Given the description of an element on the screen output the (x, y) to click on. 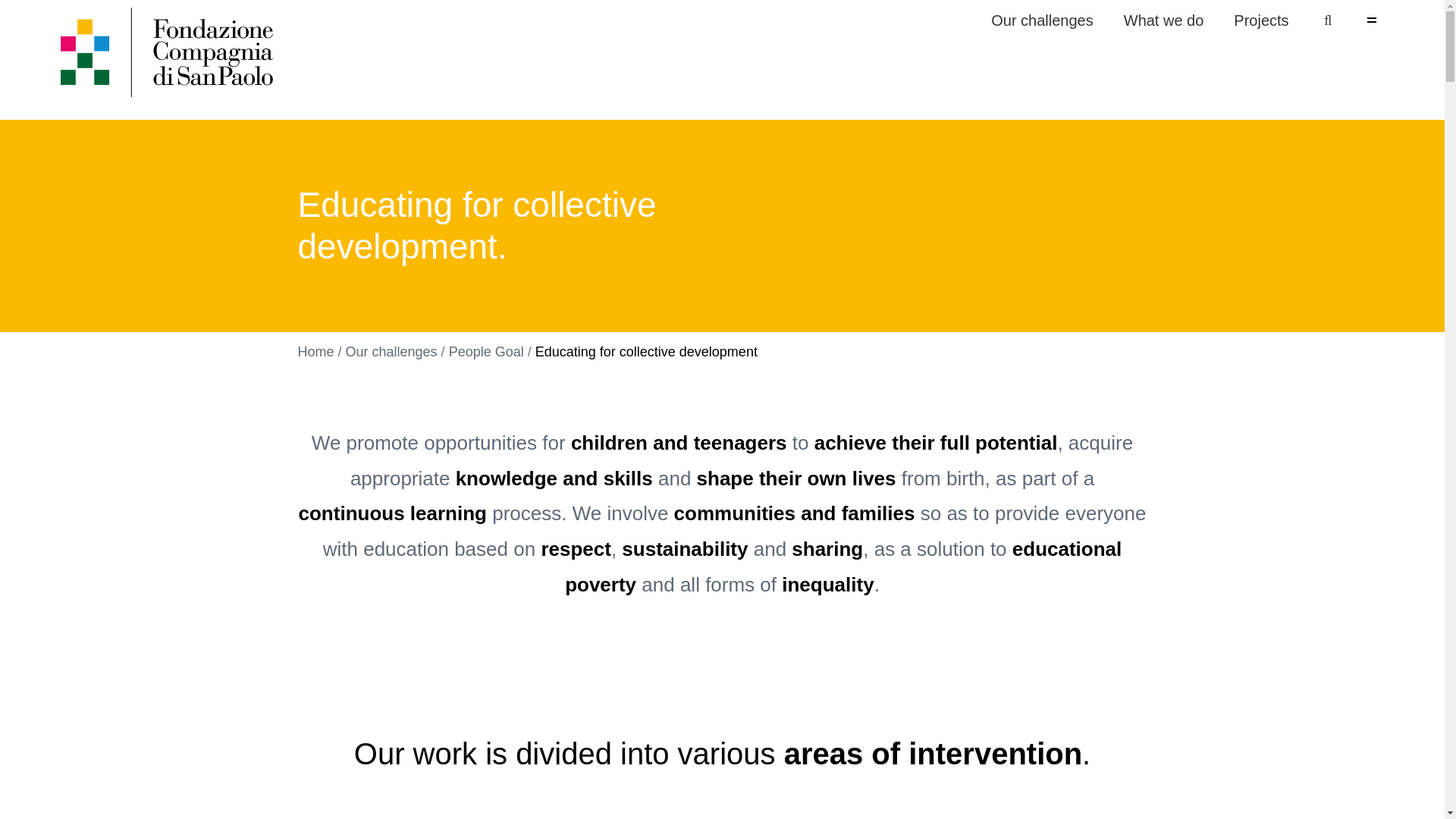
Menu istituzionale (1183, 20)
Projects (1371, 19)
Search (1260, 20)
Our challenges (1327, 20)
Vai a Fondazione Compagnia di San Paolo. (1041, 20)
What we do (315, 351)
Vai a People Goal. (1164, 20)
Vai a Our challenges. (486, 351)
